Given the description of an element on the screen output the (x, y) to click on. 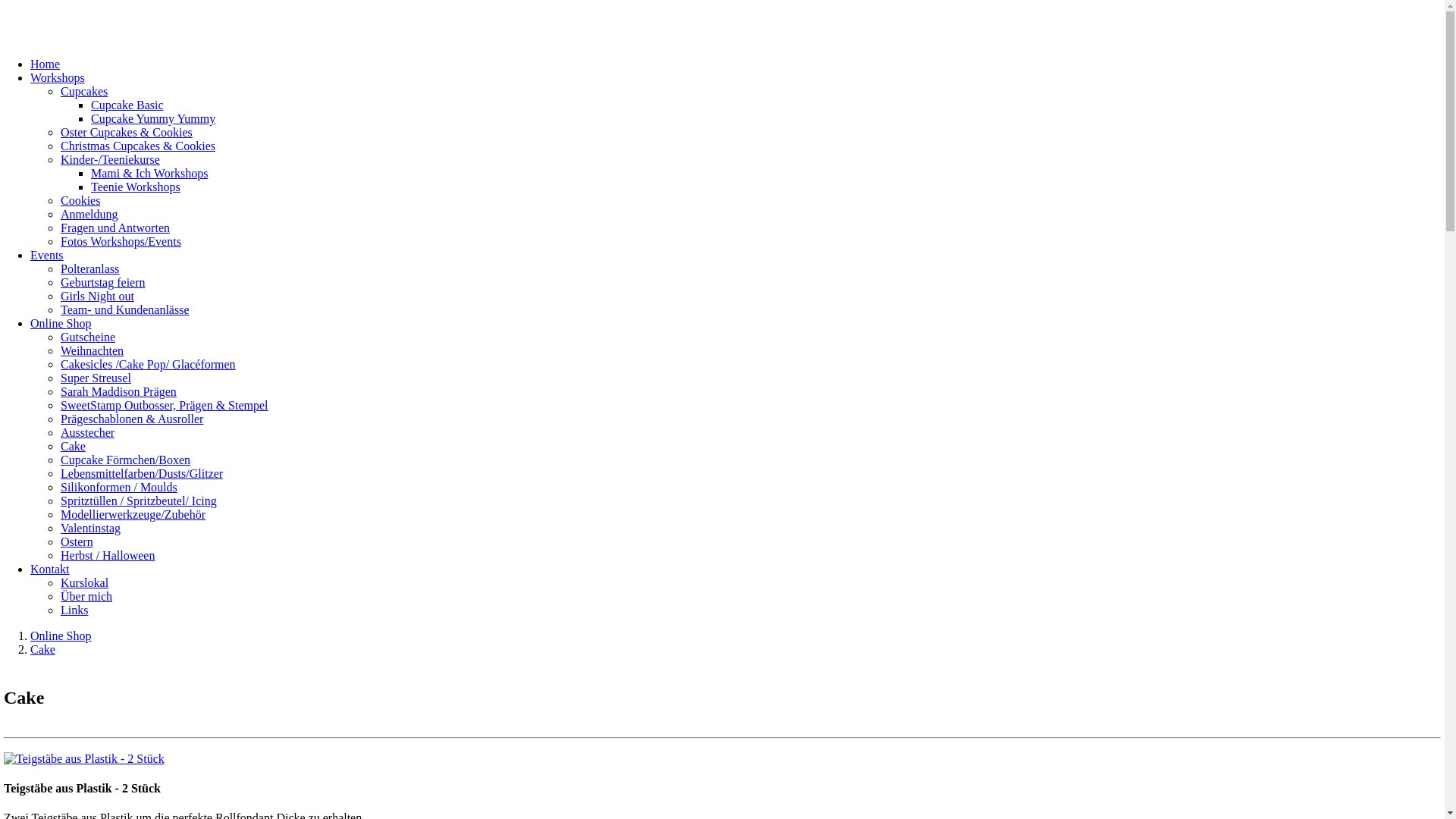
Kontakt Element type: text (49, 568)
Kurslokal Element type: text (84, 582)
Ostern Element type: text (76, 541)
Online Shop Element type: text (60, 322)
Lebensmittelfarben/Dusts/Glitzer Element type: text (141, 473)
Ausstecher Element type: text (87, 432)
Mami & Ich Workshops Element type: text (149, 172)
Links Element type: text (73, 609)
Cupcake Yummy Yummy Element type: text (153, 118)
Geburtstag feiern Element type: text (102, 282)
Girls Night out Element type: text (97, 295)
Cookies Element type: text (80, 200)
Super Streusel Element type: text (95, 377)
Fragen und Antworten Element type: text (114, 227)
Workshops Element type: text (57, 77)
Silikonformen / Moulds Element type: text (118, 486)
Christmas Cupcakes & Cookies Element type: text (137, 145)
Polteranlass Element type: text (89, 268)
Cake Element type: text (72, 445)
Weihnachten Element type: text (91, 350)
Valentinstag Element type: text (90, 527)
Oster Cupcakes & Cookies Element type: text (126, 131)
Herbst / Halloween Element type: text (107, 555)
Fotos Workshops/Events Element type: text (120, 241)
Home Element type: text (44, 63)
Gutscheine Element type: text (87, 336)
Cupcake Basic Element type: text (127, 104)
Online Shop Element type: text (60, 635)
Events Element type: text (46, 254)
Cupcakes Element type: text (83, 90)
Teenie Workshops Element type: text (135, 186)
Cake Element type: text (42, 649)
Kinder-/Teeniekurse Element type: text (110, 159)
Anmeldung Element type: text (89, 213)
